Given the description of an element on the screen output the (x, y) to click on. 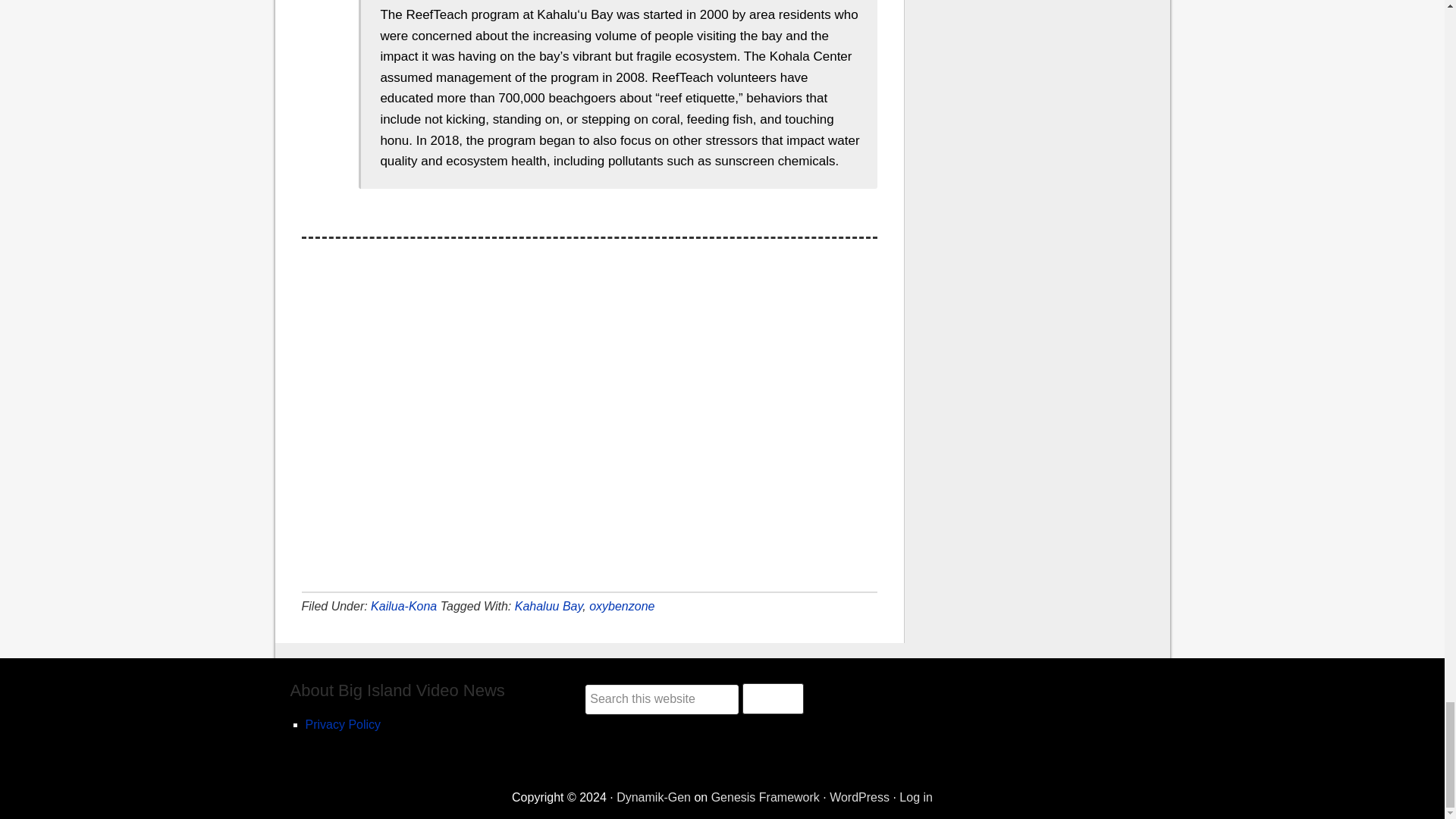
Kailua-Kona (403, 605)
Search (772, 698)
Privacy Policy for Big Island Video News (342, 724)
Genesis Framework (765, 797)
Dynamik-Gen (652, 797)
Kahaluu Bay (549, 605)
oxybenzone (621, 605)
WordPress (859, 797)
Privacy Policy (342, 724)
Search (772, 698)
Search (772, 698)
Log in (916, 797)
